Given the description of an element on the screen output the (x, y) to click on. 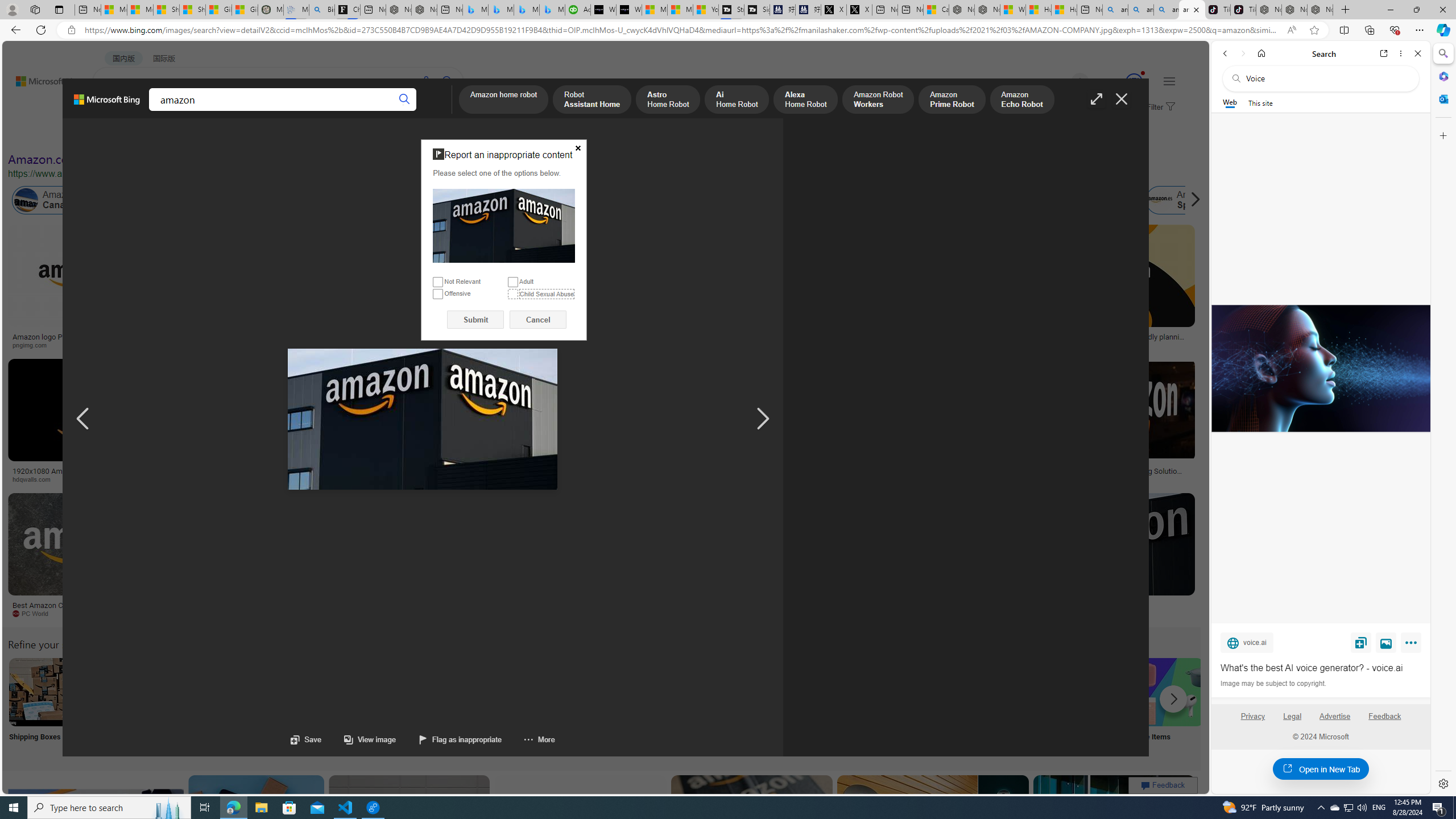
Legal (1291, 715)
Amazon.com.au (881, 200)
Back to Bing search (41, 78)
Listen: What's next for Amazon?usatoday.comSave (406, 289)
WEB (114, 111)
Amazon Cloud (320, 200)
downdetector.ae (869, 344)
thewrap.com (470, 612)
View image (358, 739)
Amazon Wish List (568, 691)
